Given the description of an element on the screen output the (x, y) to click on. 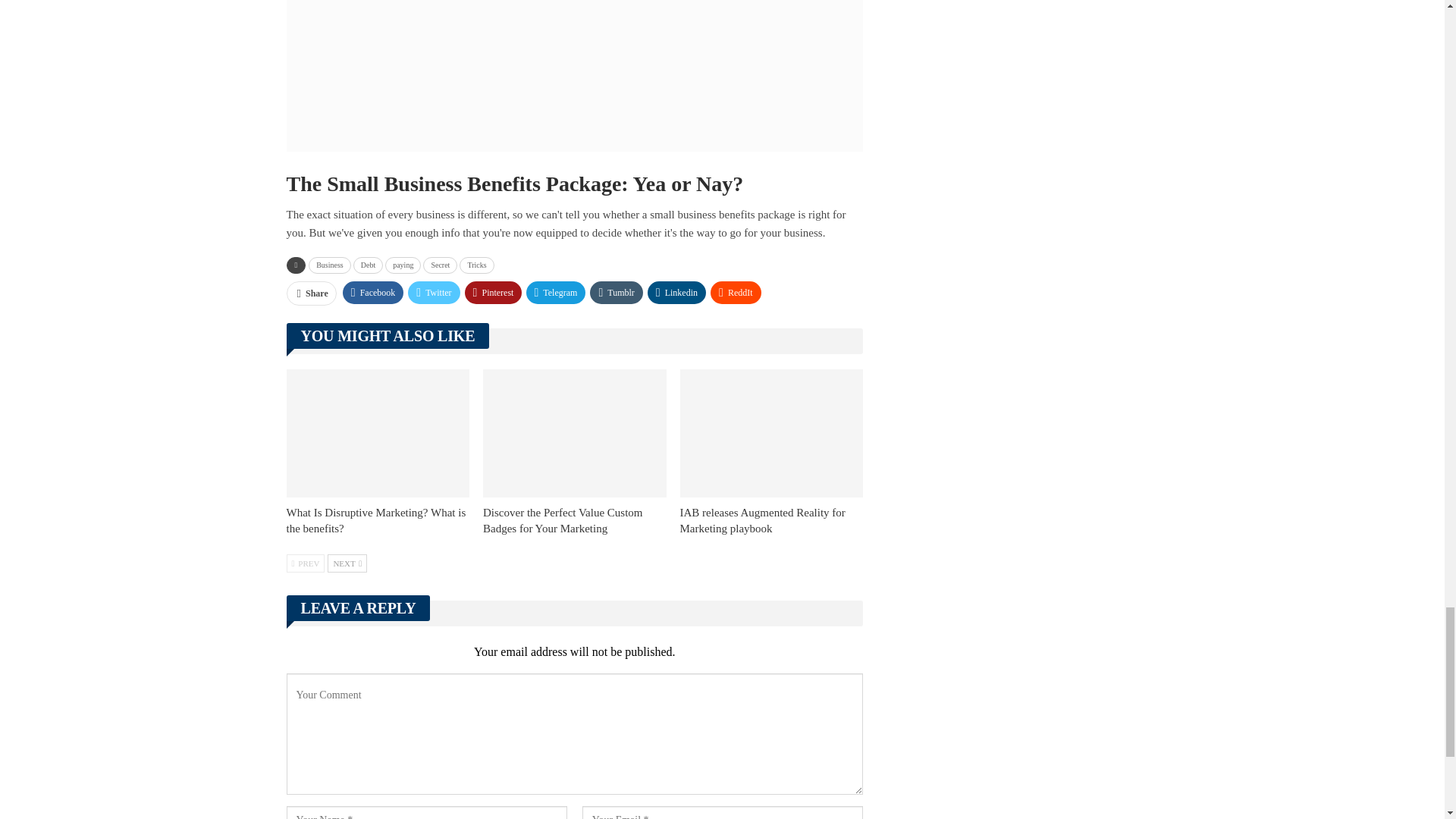
Debt (367, 265)
What Is Disruptive Marketing? What is the benefits? (375, 520)
IAB releases Augmented Reality for Marketing playbook (762, 520)
Discover the Perfect Value Custom Badges for Your Marketing (563, 520)
Facebook (373, 292)
Secret (440, 265)
Previous (305, 563)
Tricks (476, 265)
paying (402, 265)
Discover the Perfect Value Custom Badges for Your Marketing (574, 433)
